Given the description of an element on the screen output the (x, y) to click on. 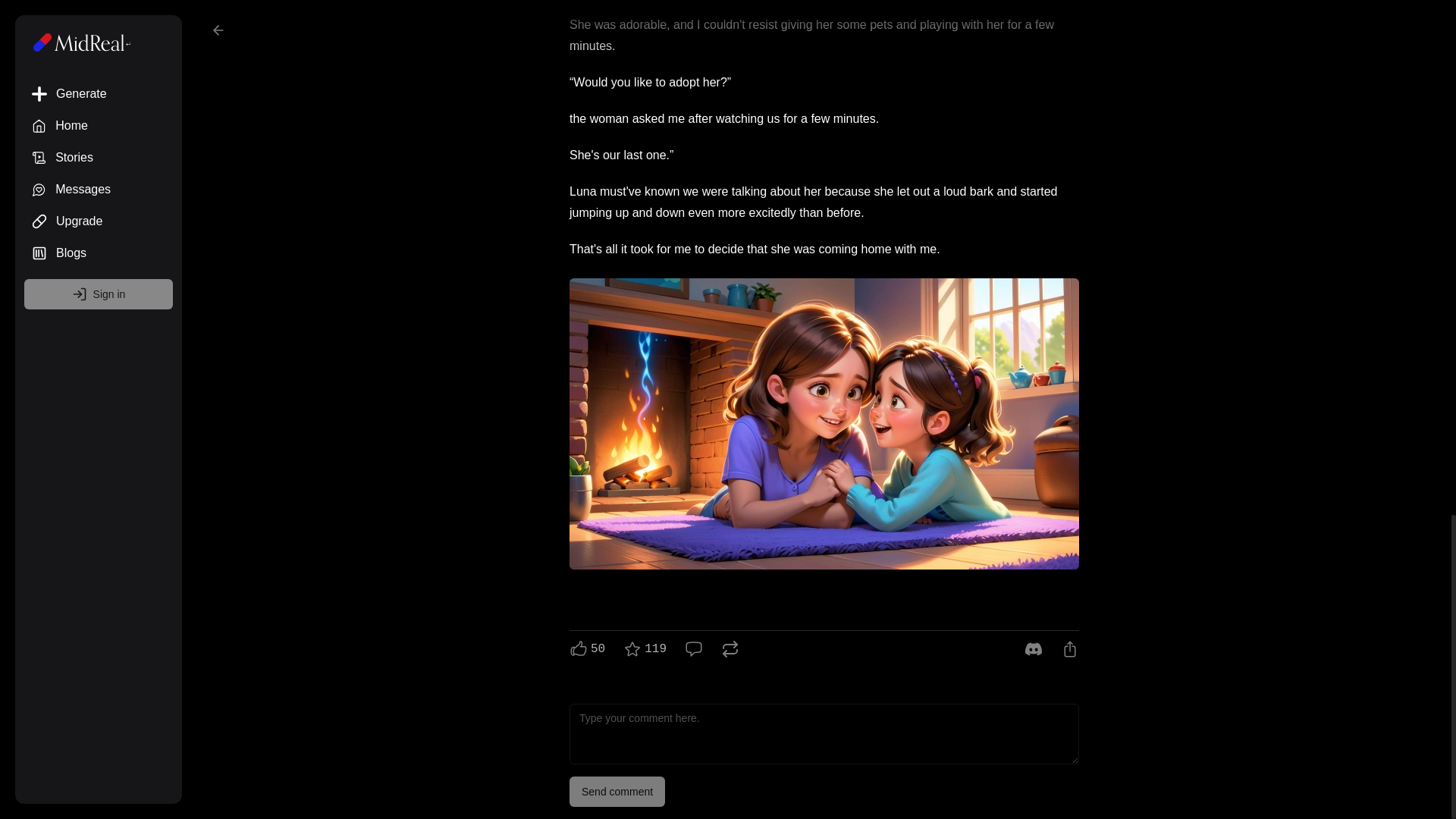
Send comment (617, 791)
